Given the description of an element on the screen output the (x, y) to click on. 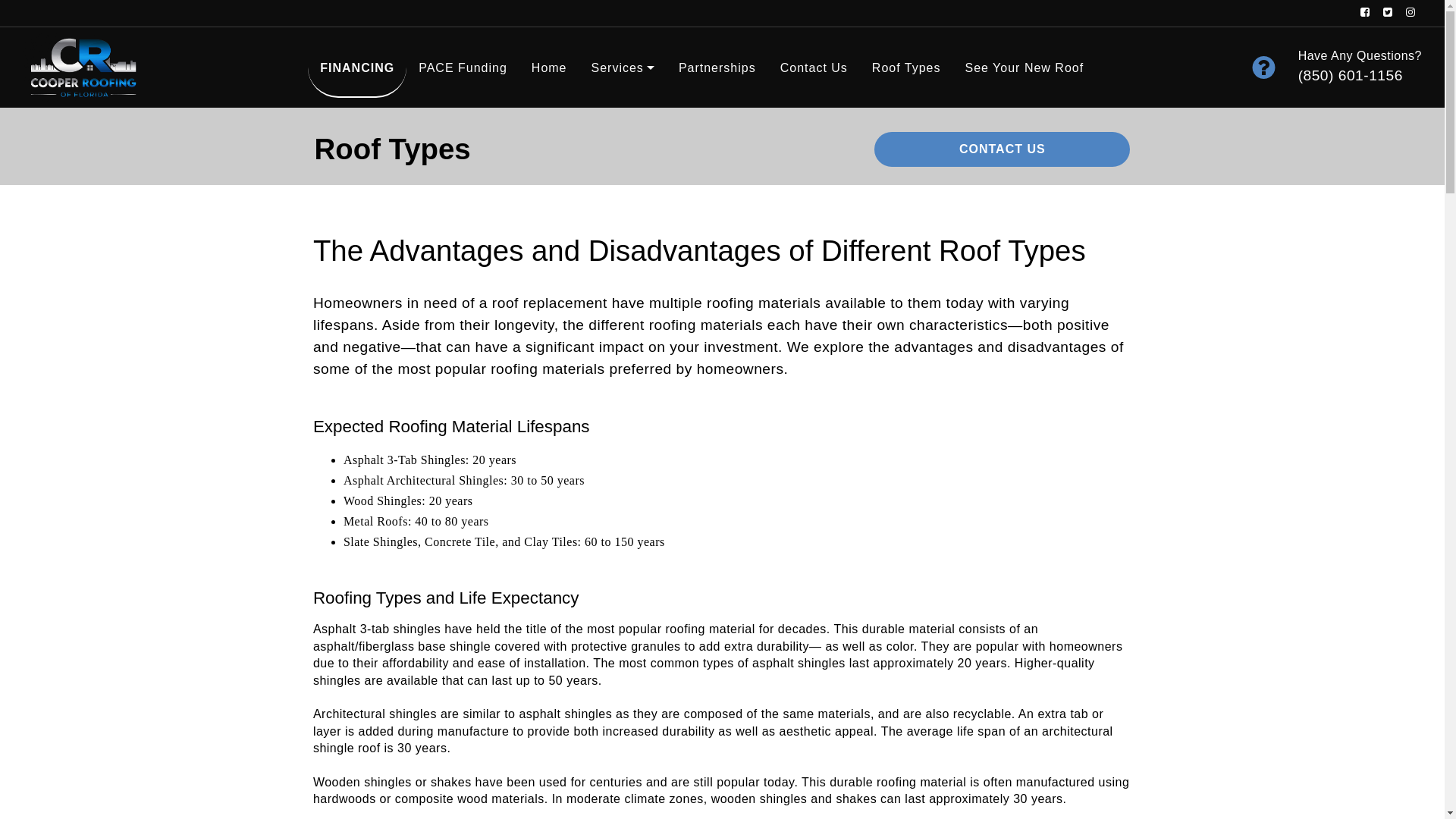
See Your New Roof (1024, 66)
Roof Types (906, 66)
CONTACT US (1002, 149)
Services (622, 66)
PACE Funding (462, 66)
FINANCING (356, 66)
Home (549, 66)
Contact Us (814, 66)
Partnerships (717, 66)
